Given the description of an element on the screen output the (x, y) to click on. 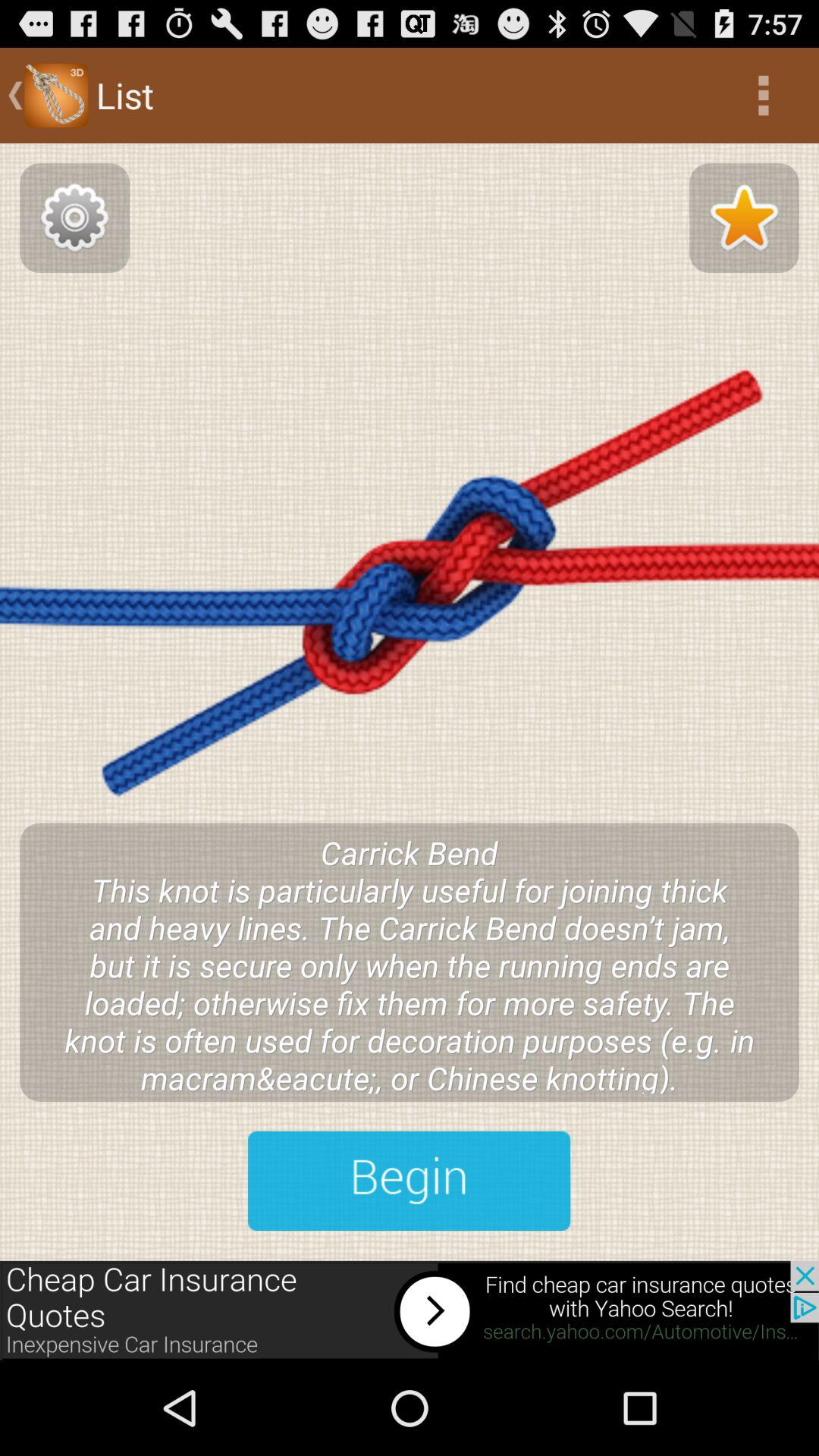
settings (74, 218)
